Given the description of an element on the screen output the (x, y) to click on. 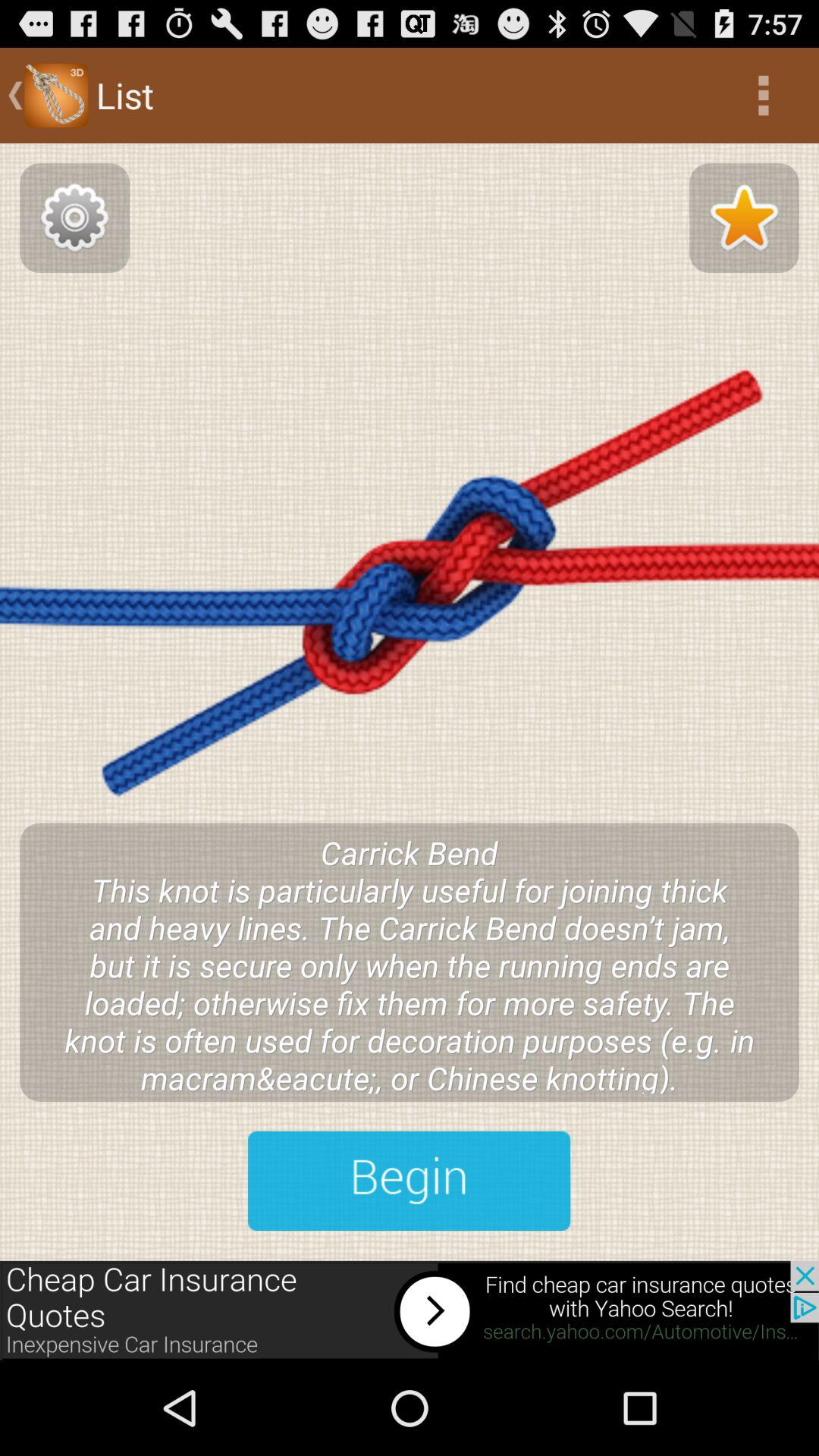
settings (74, 218)
